Given the description of an element on the screen output the (x, y) to click on. 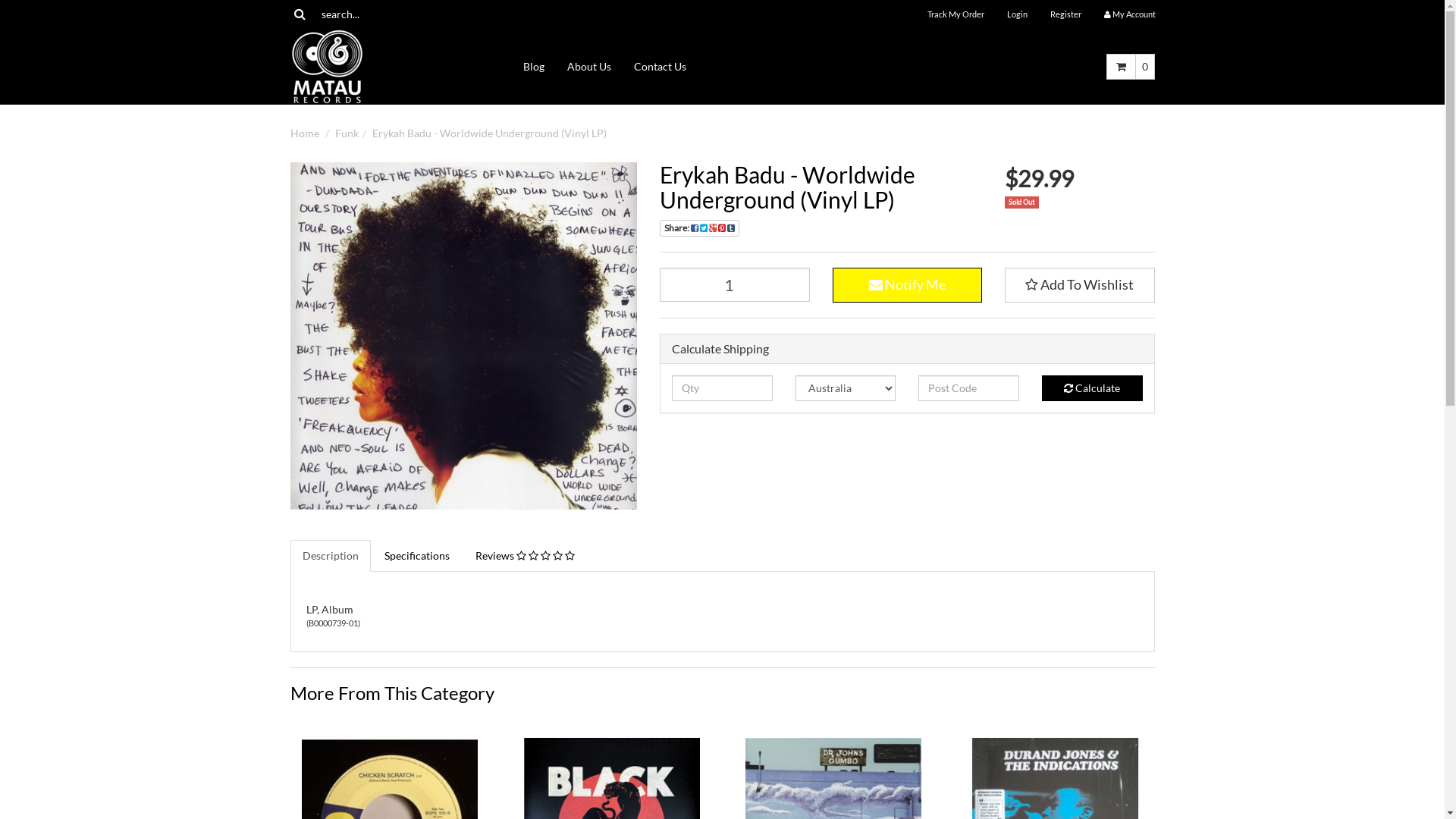
0 Element type: text (1144, 66)
Reviews Element type: text (524, 555)
Contact Us Element type: text (659, 66)
Share: Element type: text (699, 227)
Register Element type: text (1065, 14)
Blog Element type: text (533, 66)
Matau Records Element type: hover (326, 65)
Funk Element type: text (346, 132)
Home Element type: text (303, 132)
About Us Element type: text (588, 66)
Specifications Element type: text (416, 555)
Notify Me Element type: text (907, 284)
Calculate Element type: text (1091, 388)
Erykah Badu - Worldwide Underground (Vinyl LP) Element type: text (488, 132)
Add To Wishlist Element type: text (1079, 284)
Login Element type: text (1016, 14)
My Account Element type: text (1129, 14)
Search Element type: text (298, 13)
Description Element type: text (329, 555)
Track My Order Element type: text (955, 14)
